Given the description of an element on the screen output the (x, y) to click on. 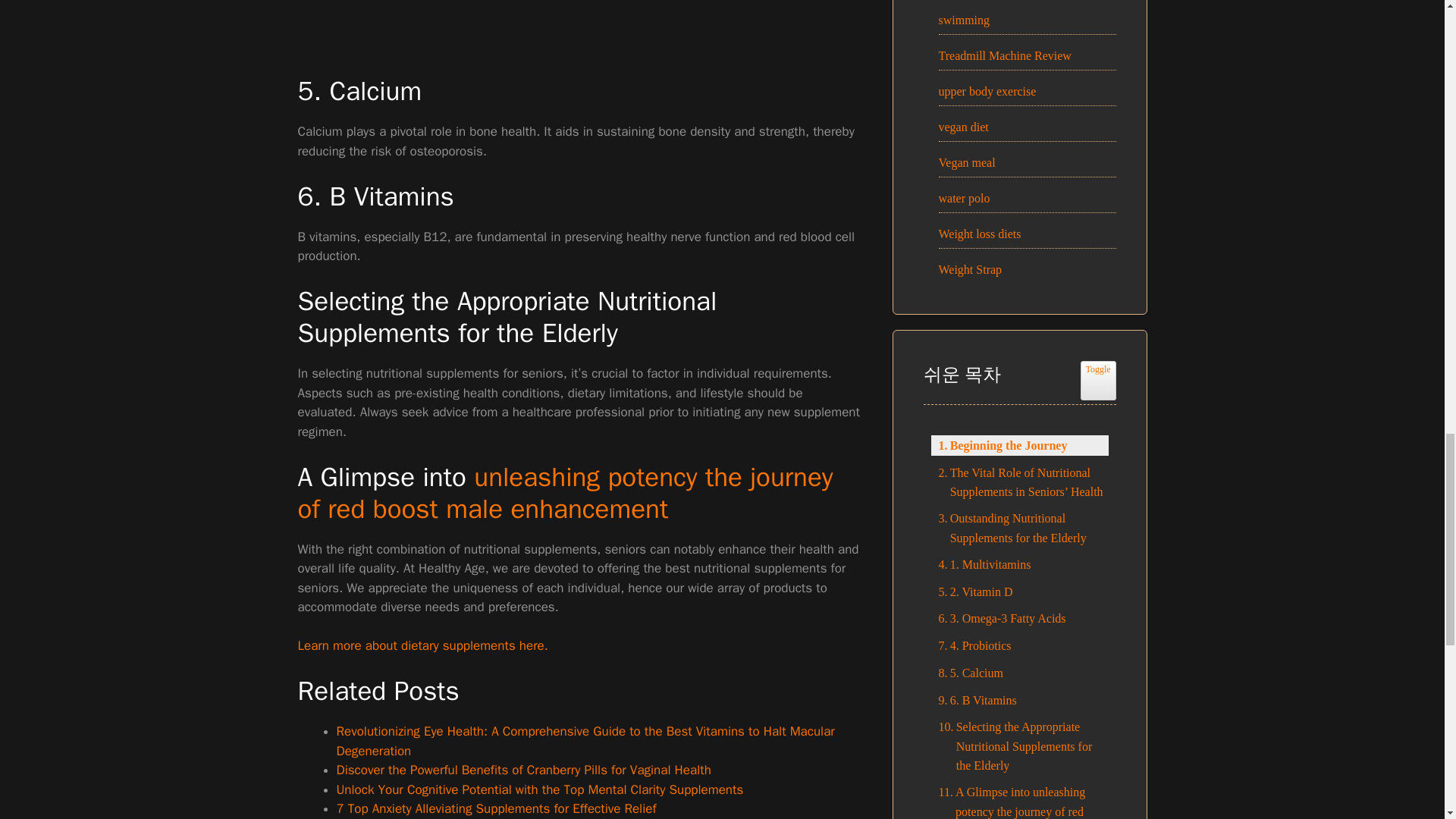
unleashing potency the journey of red boost male enhancement (564, 492)
Learn more about dietary supplements here. (422, 645)
Outstanding Nutritional Supplements for the Elderly (1019, 527)
7 Top Anxiety Alleviating Supplements for Effective Relief (496, 808)
Beginning the Journey (999, 445)
